Given the description of an element on the screen output the (x, y) to click on. 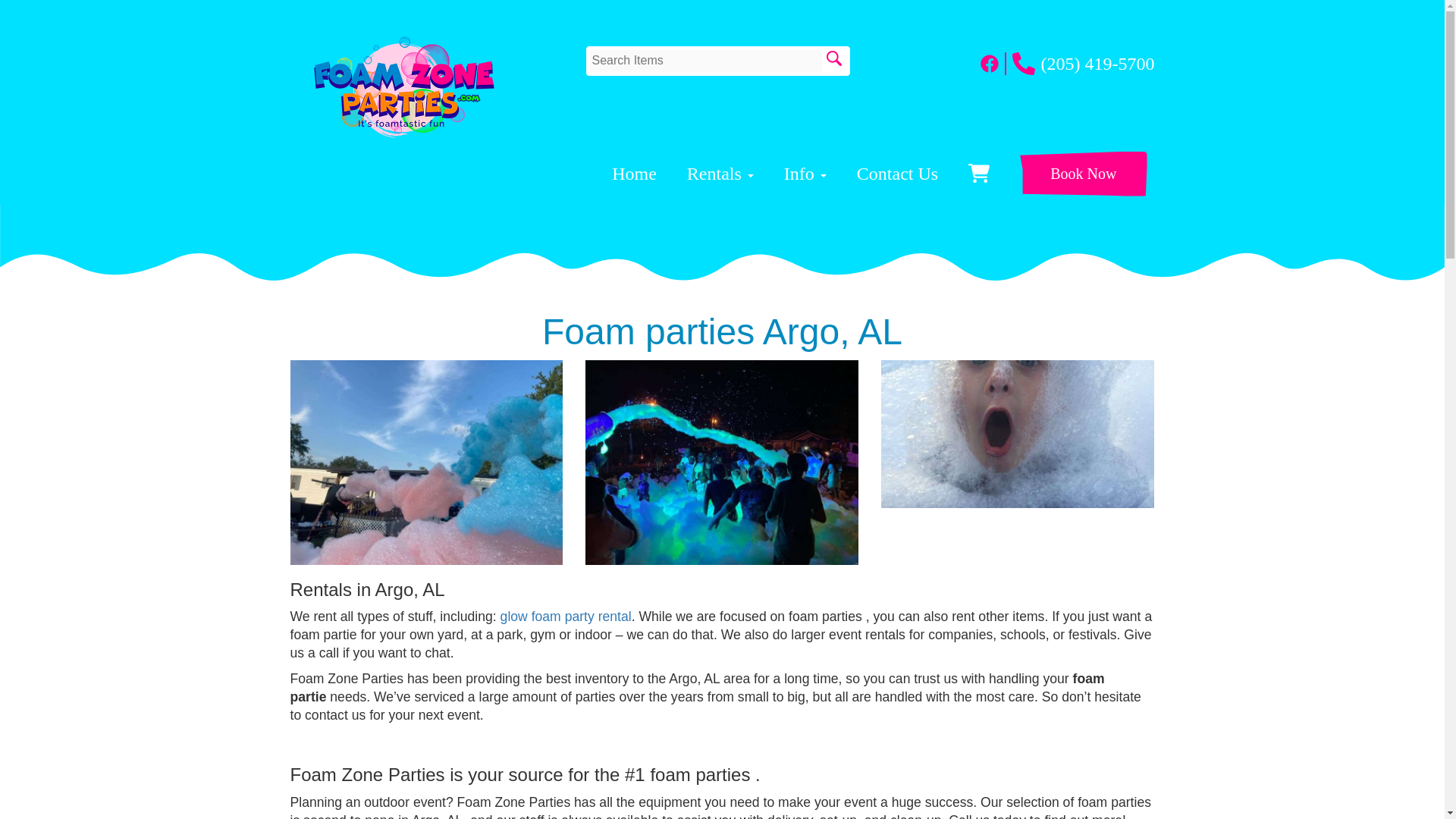
Book Now (1083, 173)
Home (633, 173)
the best foam parties (1017, 433)
Foam Zone Parties (402, 87)
Rentals (720, 173)
top notch foam parties Argo, AL (425, 462)
Info (805, 173)
the best foam parties Argo, AL (722, 462)
Foam Zone Parties Facebook (992, 63)
glow foam party rental (565, 616)
